Given the description of an element on the screen output the (x, y) to click on. 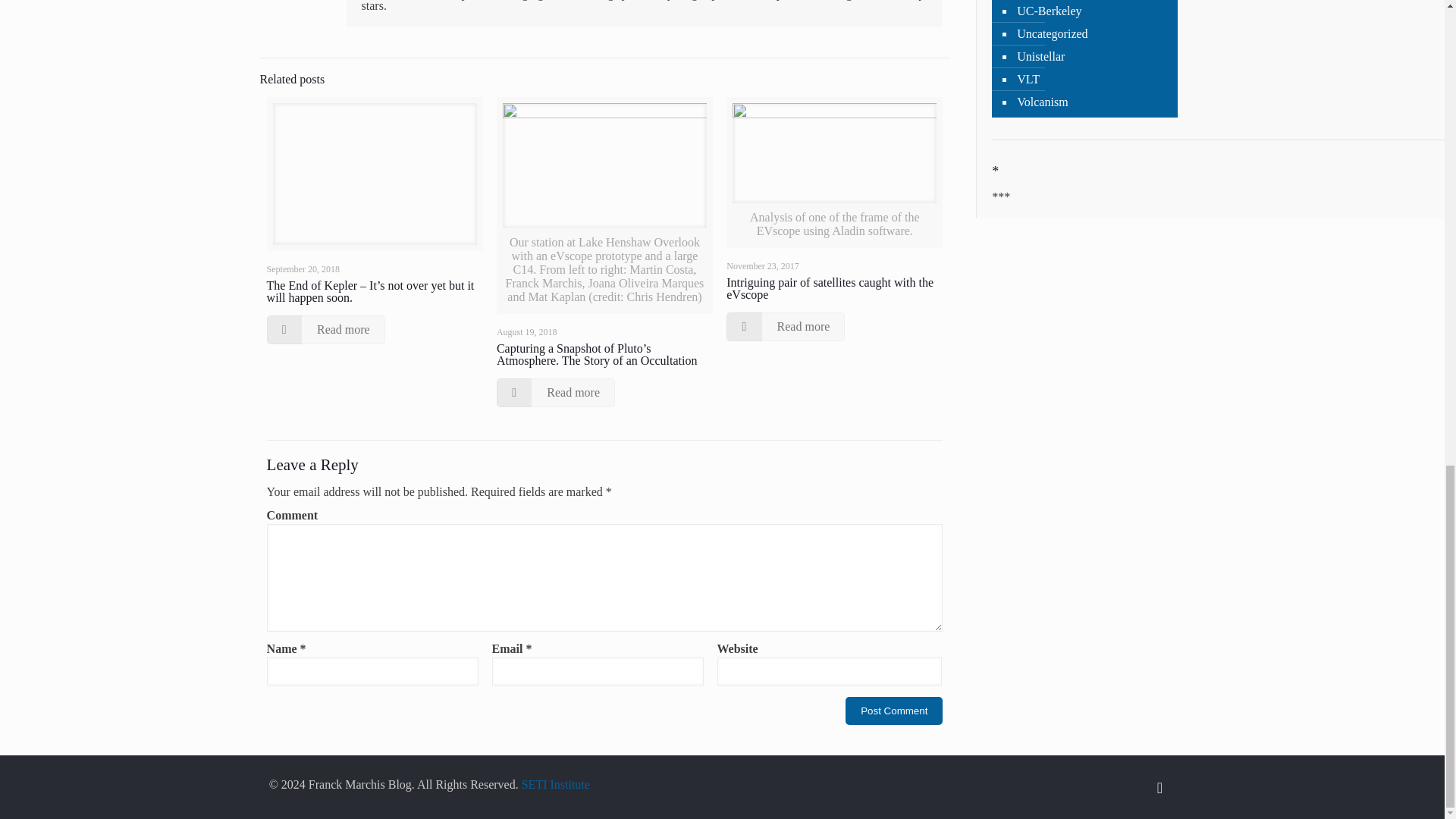
Post Comment (893, 710)
